Given the description of an element on the screen output the (x, y) to click on. 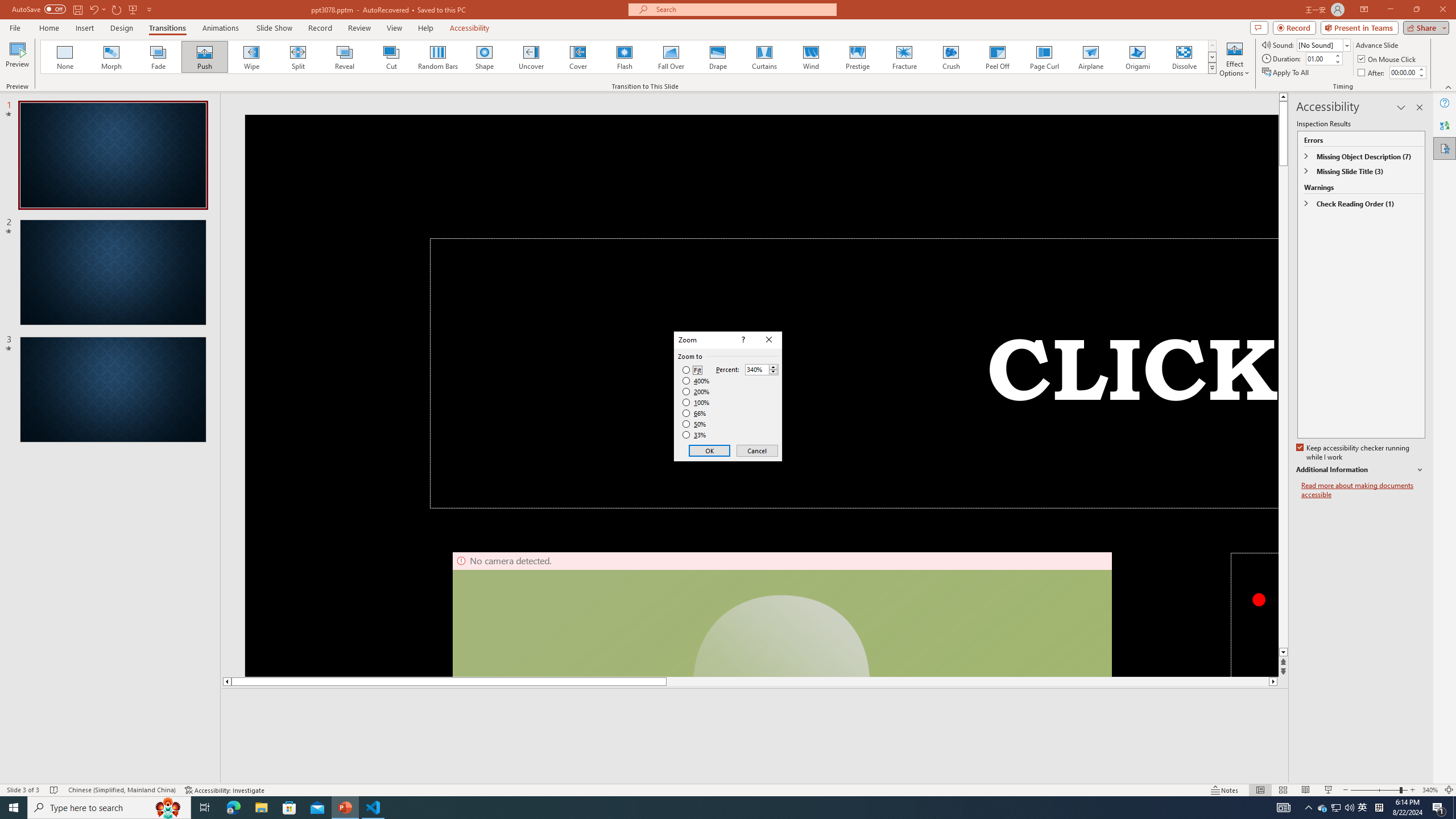
Push (205, 56)
